Given the description of an element on the screen output the (x, y) to click on. 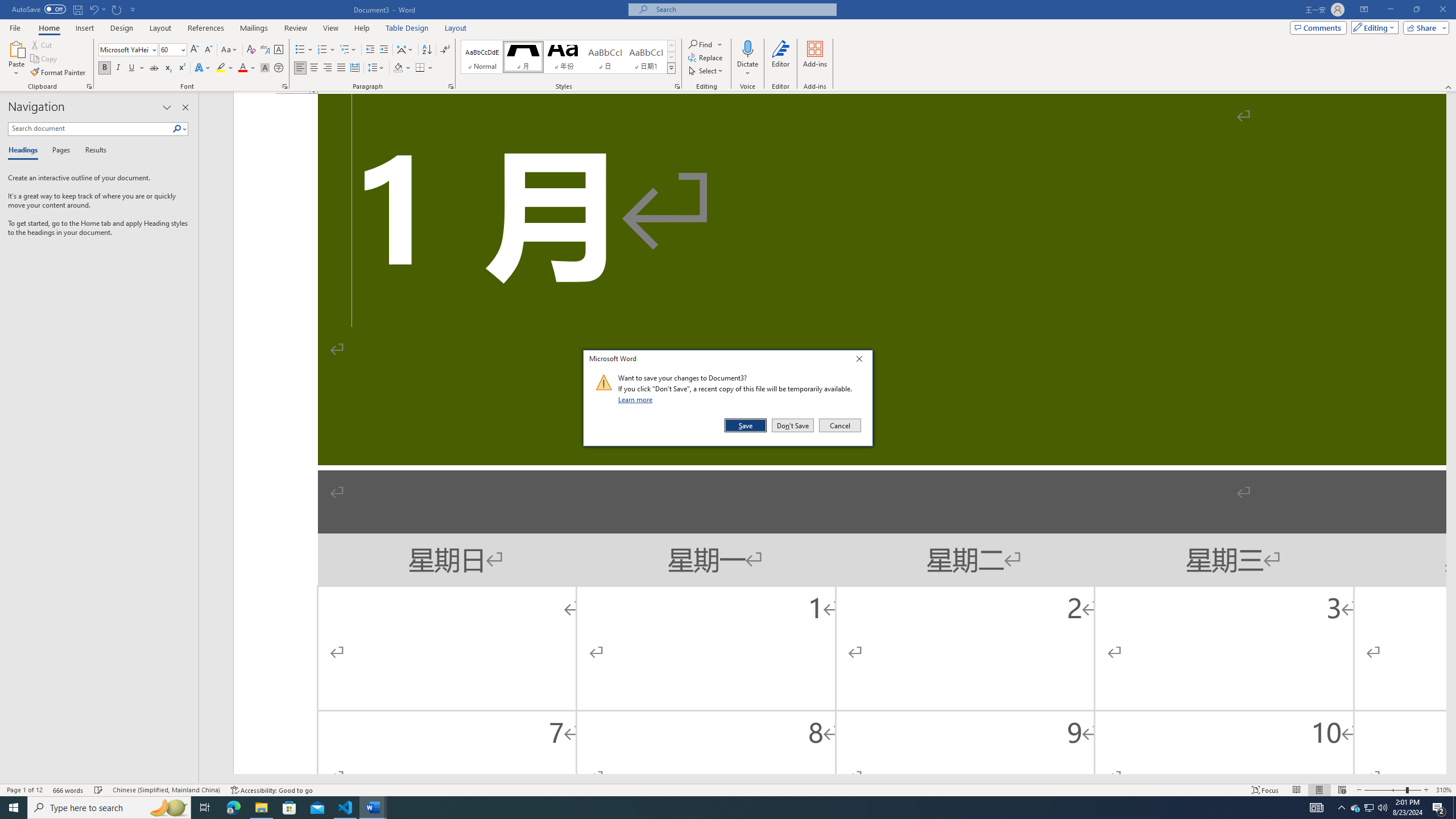
Page Number Page 1 of 12 (24, 790)
Undo Increase Indent (96, 9)
Running applications (717, 807)
Decrease Indent (370, 49)
Mode (1372, 27)
Text Highlight Color Yellow (220, 67)
Asian Layout (405, 49)
Microsoft search (742, 9)
Styles... (676, 85)
